Given the description of an element on the screen output the (x, y) to click on. 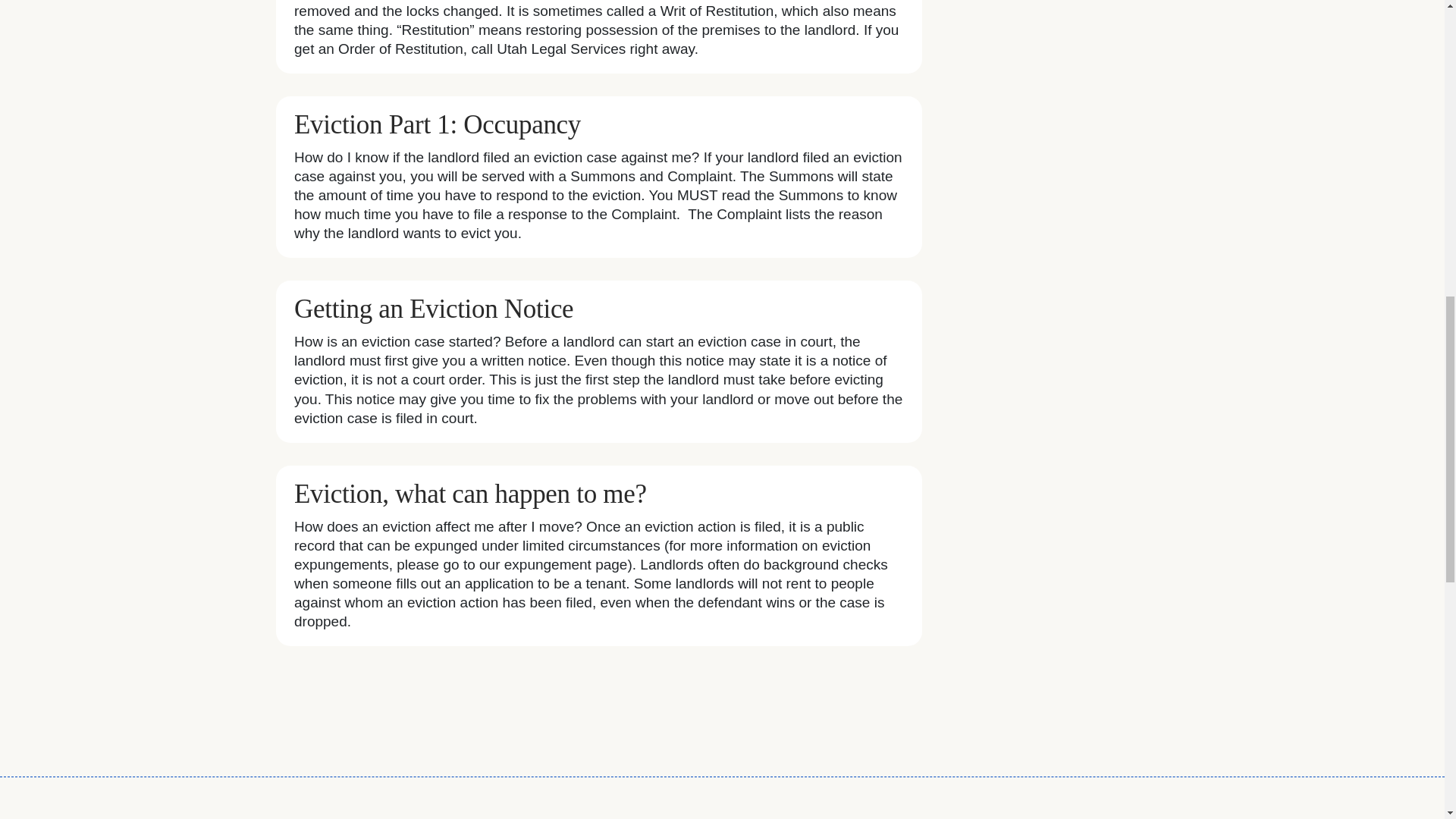
Getting an Eviction Notice (433, 308)
Eviction Part 1: Occupancy (437, 124)
Eviction, what can happen to me? (470, 493)
